Given the description of an element on the screen output the (x, y) to click on. 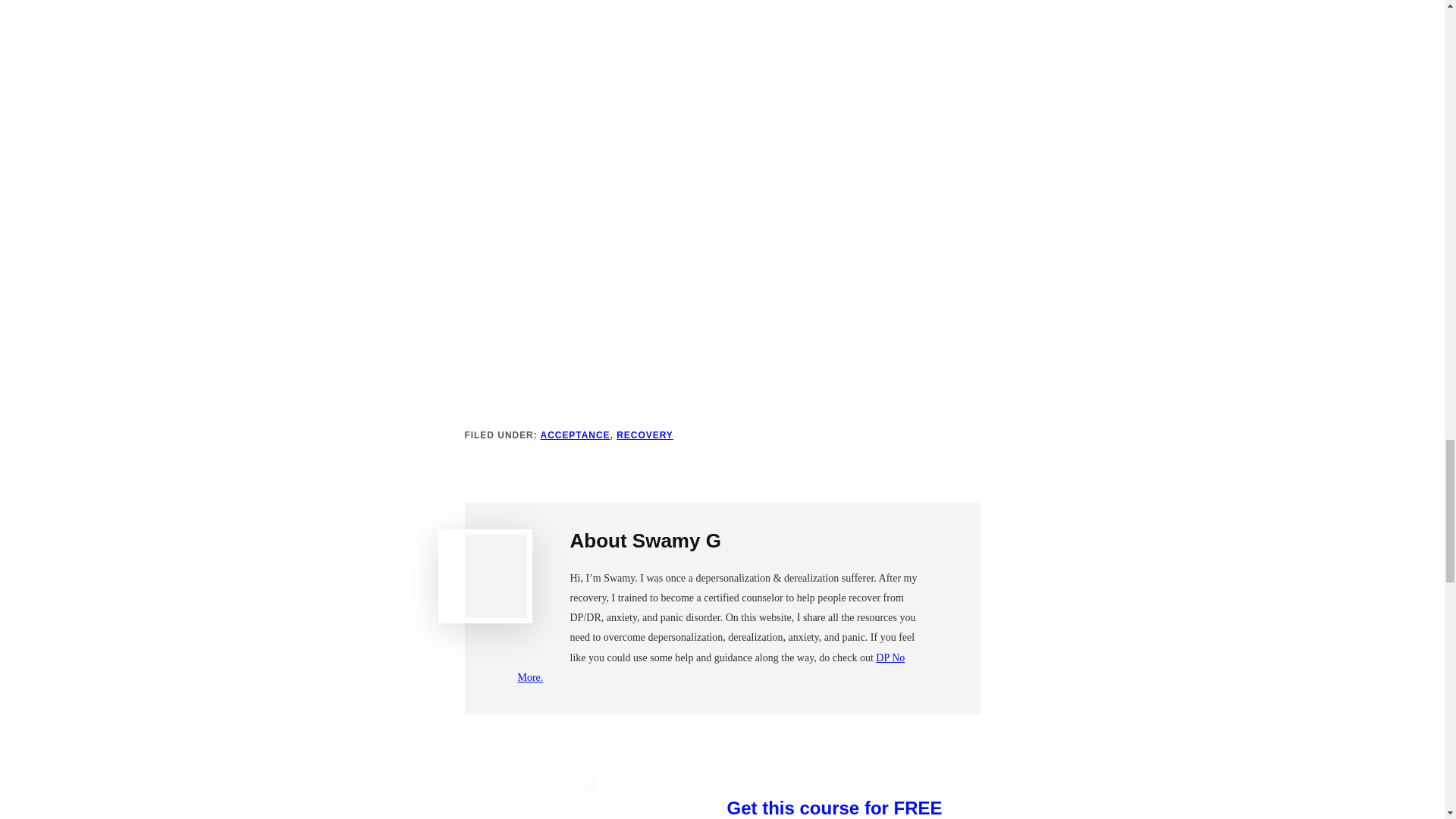
ACCEPTANCE (575, 434)
DP No More. (710, 667)
RECOVERY (643, 434)
Get this course for FREE (852, 808)
